Given the description of an element on the screen output the (x, y) to click on. 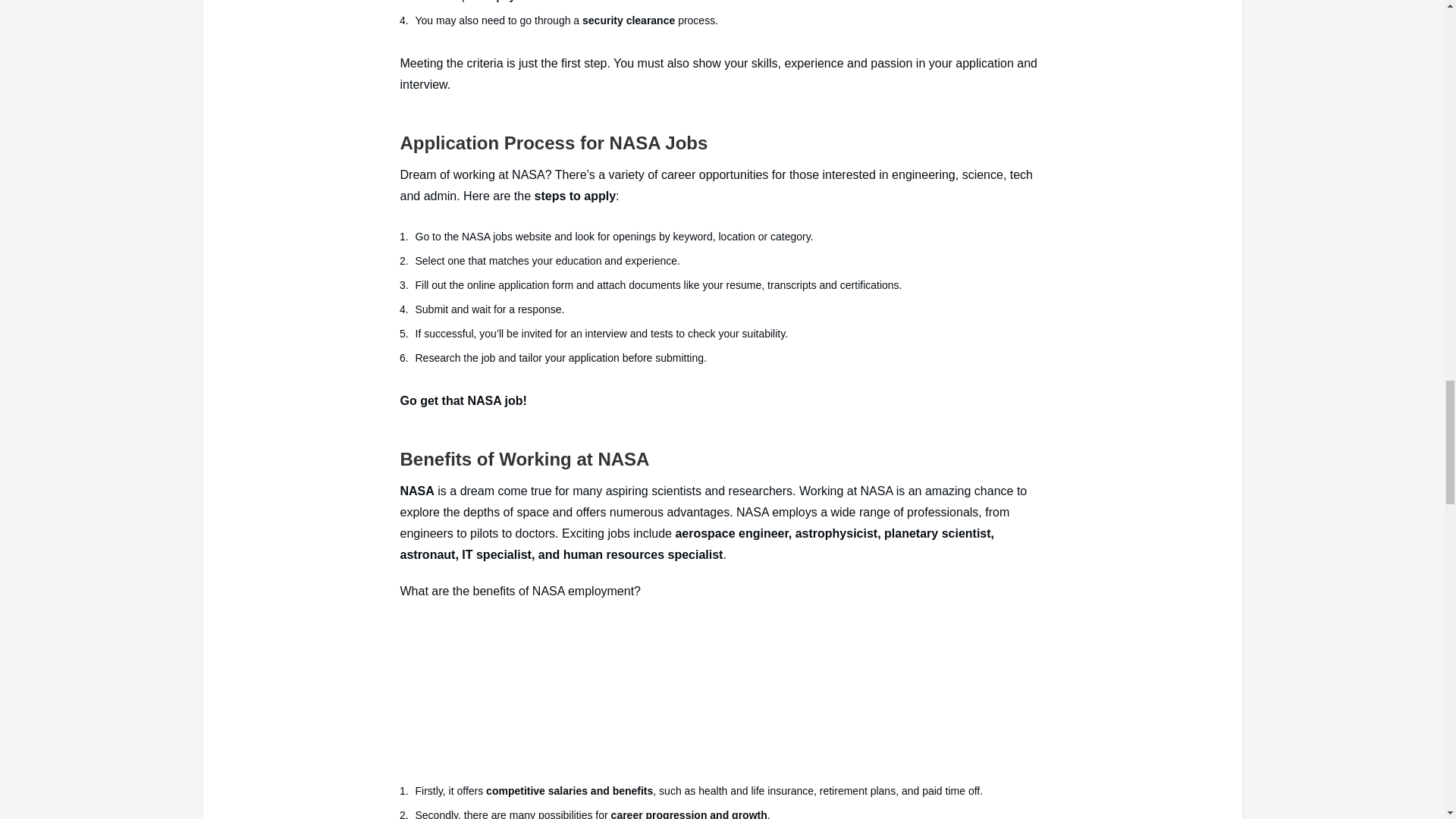
Advertisement (722, 688)
